Given the description of an element on the screen output the (x, y) to click on. 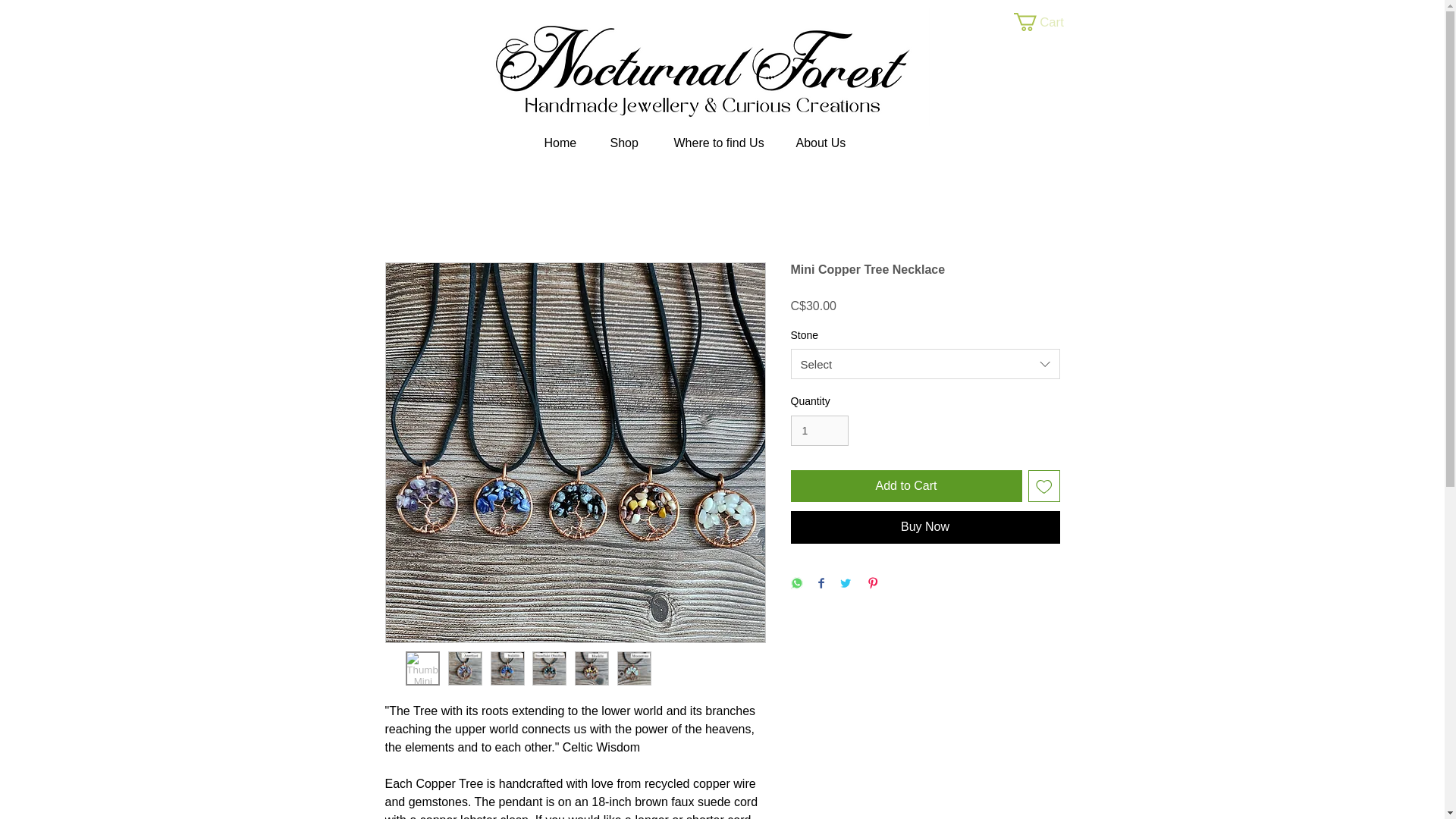
1 (818, 430)
Home (557, 142)
Add to Cart (906, 486)
Cart (1048, 22)
Buy Now (924, 526)
Cart (1048, 22)
Where to find Us (716, 142)
Select (924, 363)
About Us (818, 142)
Shop (623, 142)
